Given the description of an element on the screen output the (x, y) to click on. 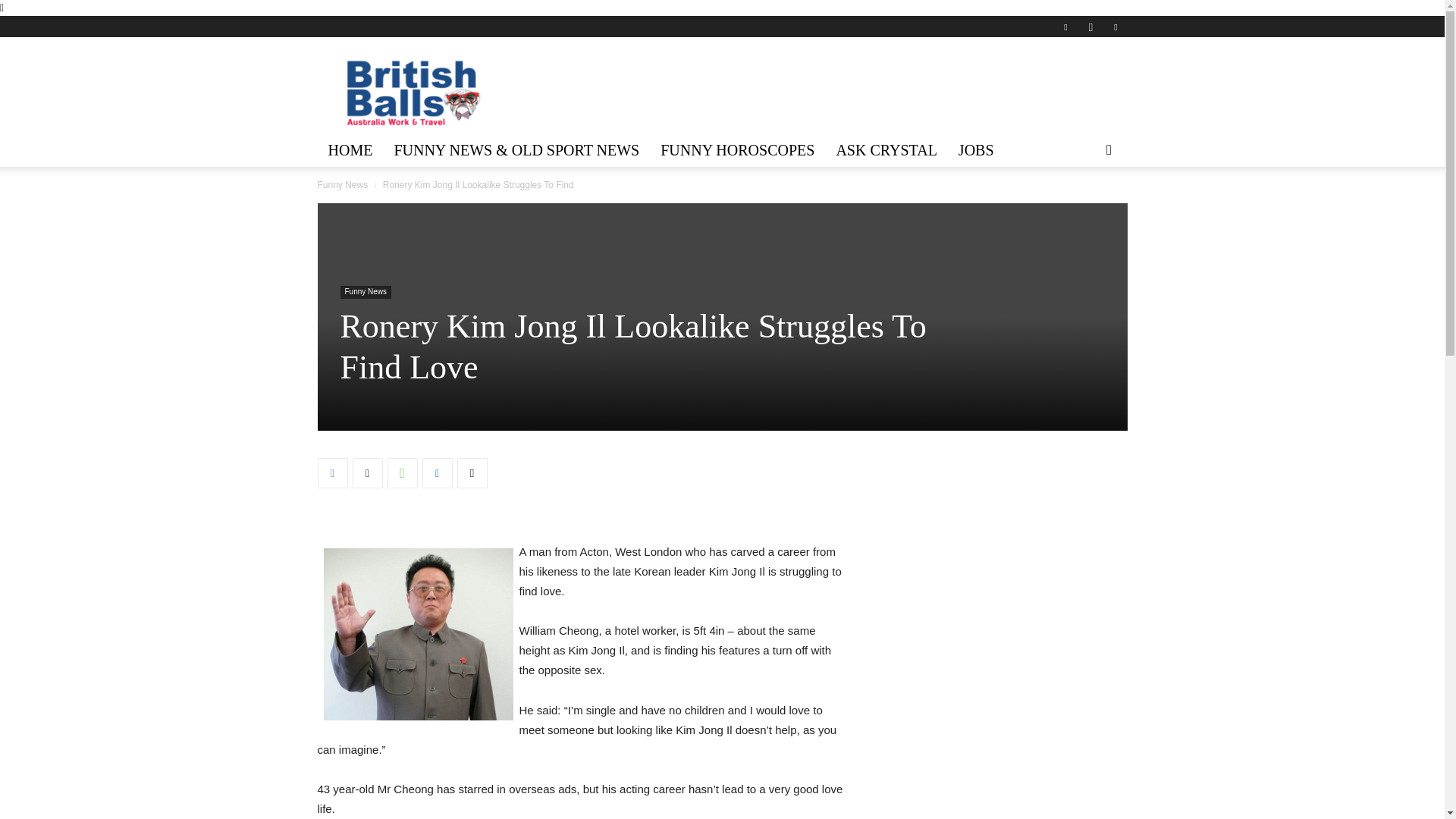
Facebook (1065, 25)
JOBS (975, 150)
Linkedin (436, 472)
View all posts in Funny News (342, 184)
Funny News (342, 184)
Facebook (332, 472)
ASK CRYSTAL (886, 150)
HOME (349, 150)
Twitter (366, 472)
Funny News (365, 291)
Search (1085, 209)
WhatsApp (401, 472)
Advertisement (850, 99)
